Given the description of an element on the screen output the (x, y) to click on. 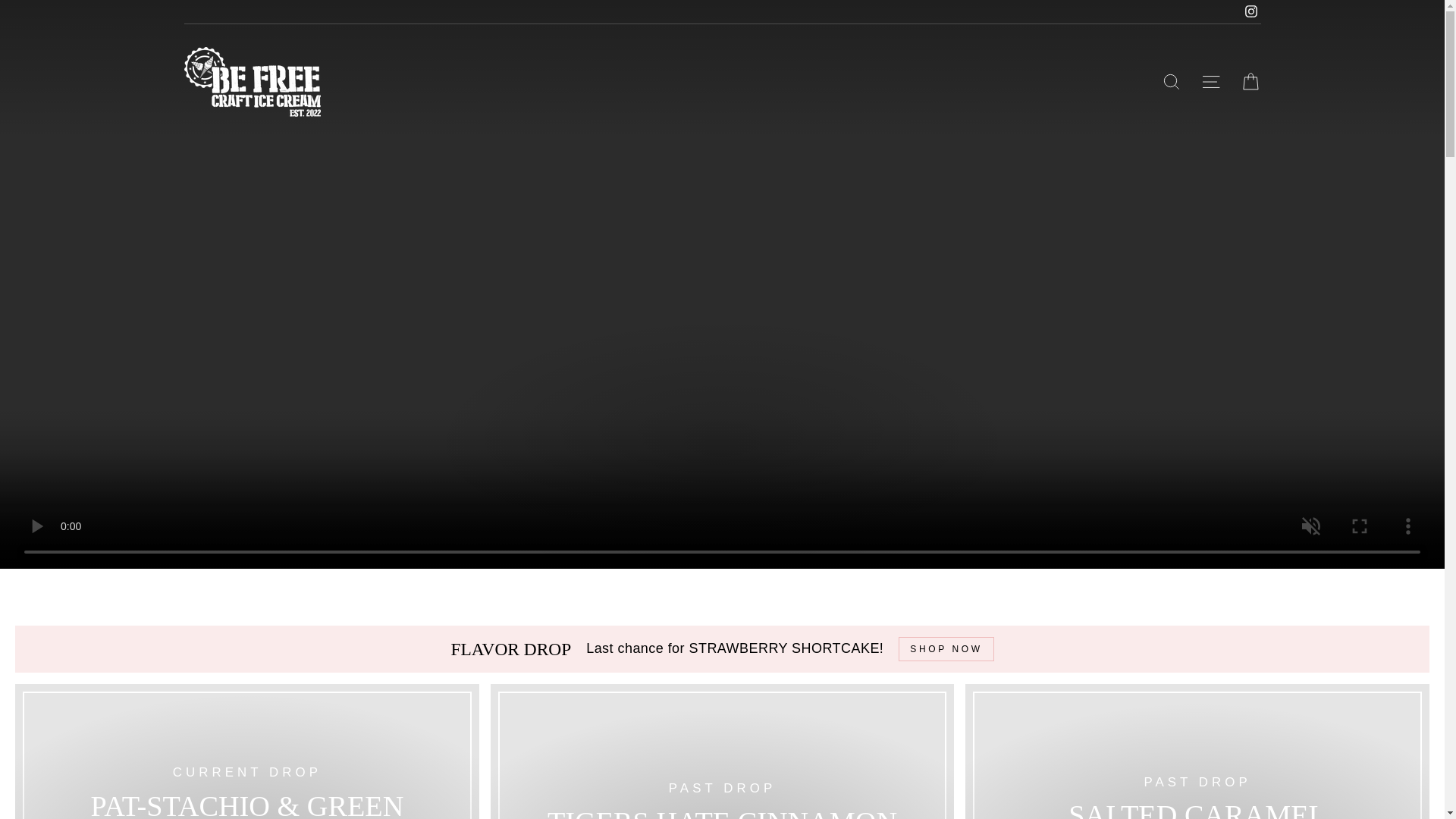
Be Free Craft Ice Cream on Instagram (1250, 11)
SEARCH (1171, 82)
FLAVOR DROPLast chance for STRAWBERRY SHORTCAKE!SHOP NOW (721, 648)
CART (1249, 82)
Instagram (1250, 11)
SITE NAVIGATION (1210, 82)
